Given the description of an element on the screen output the (x, y) to click on. 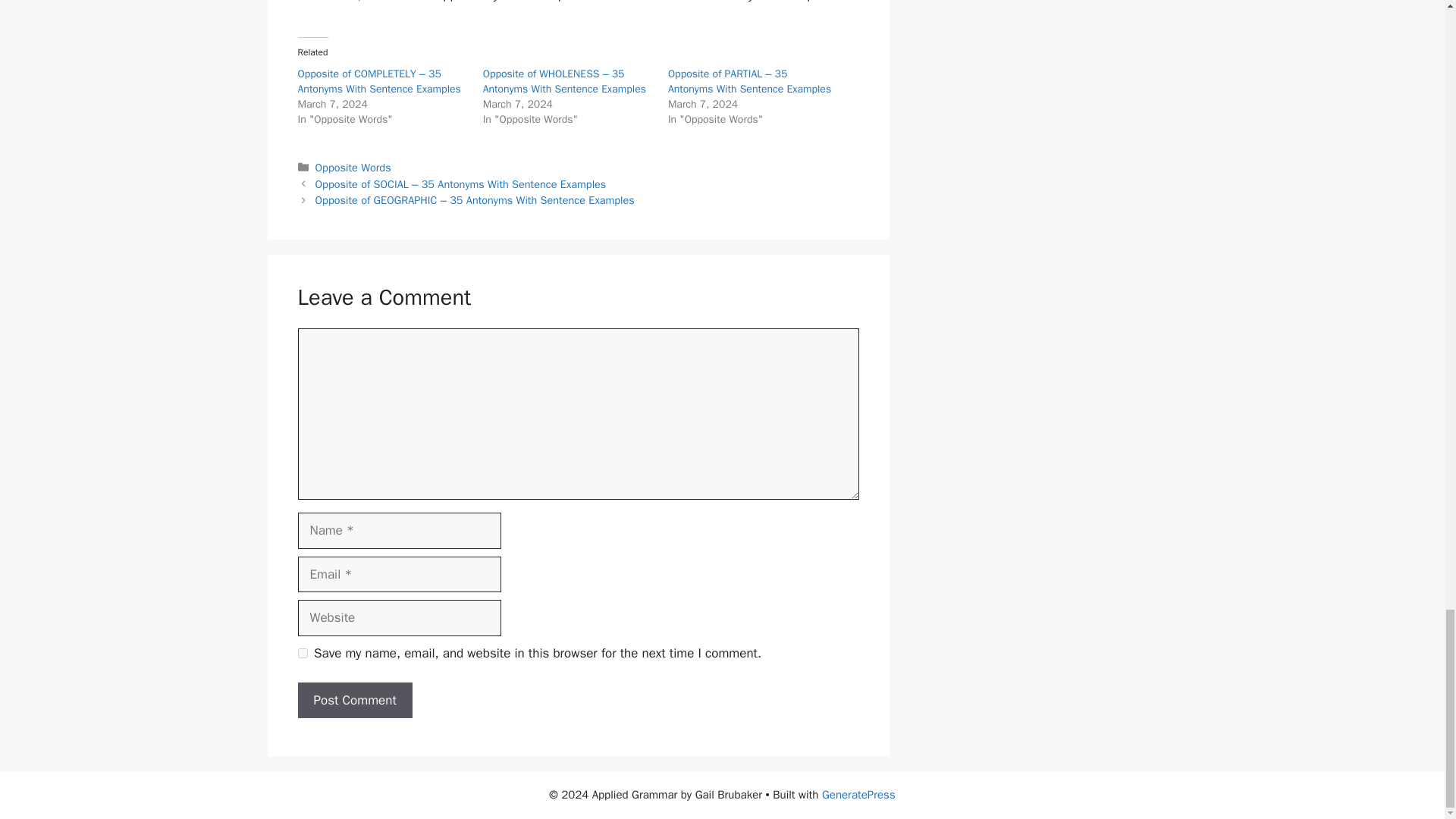
Post Comment (354, 700)
yes (302, 653)
Opposite Words (353, 167)
Post Comment (354, 700)
